Given the description of an element on the screen output the (x, y) to click on. 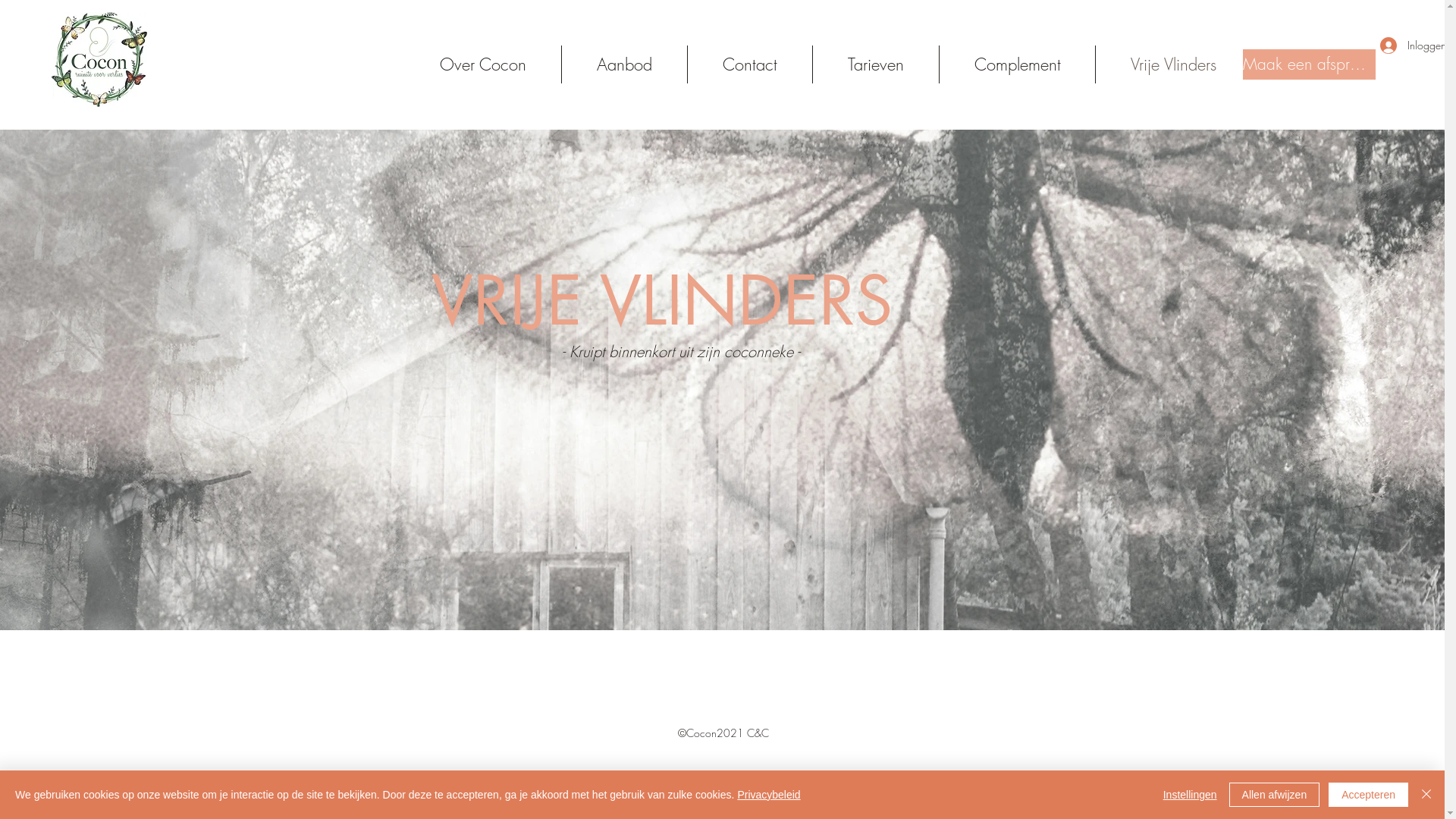
Aanbod Element type: text (624, 64)
Contact Element type: text (749, 64)
Maak een afspraak Element type: text (1308, 64)
Inloggen Element type: text (1403, 45)
Privacybeleid Element type: text (768, 794)
Accepteren Element type: text (1368, 794)
Complement Element type: text (1017, 64)
Over Cocon Element type: text (482, 64)
Tarieven Element type: text (875, 64)
Vrije Vlinders Element type: text (1172, 64)
Allen afwijzen Element type: text (1274, 794)
